Given the description of an element on the screen output the (x, y) to click on. 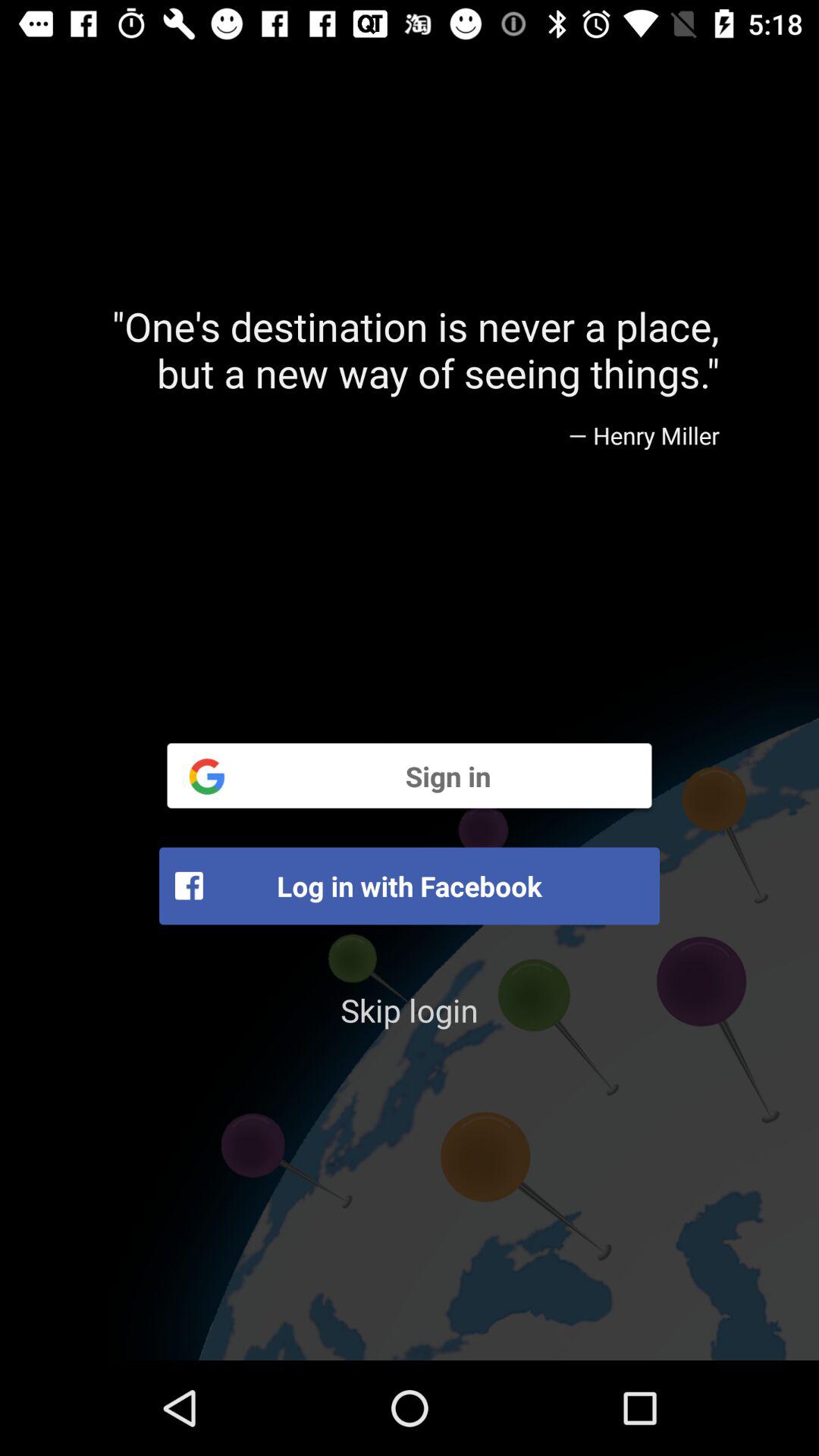
scroll until log in with (409, 885)
